Given the description of an element on the screen output the (x, y) to click on. 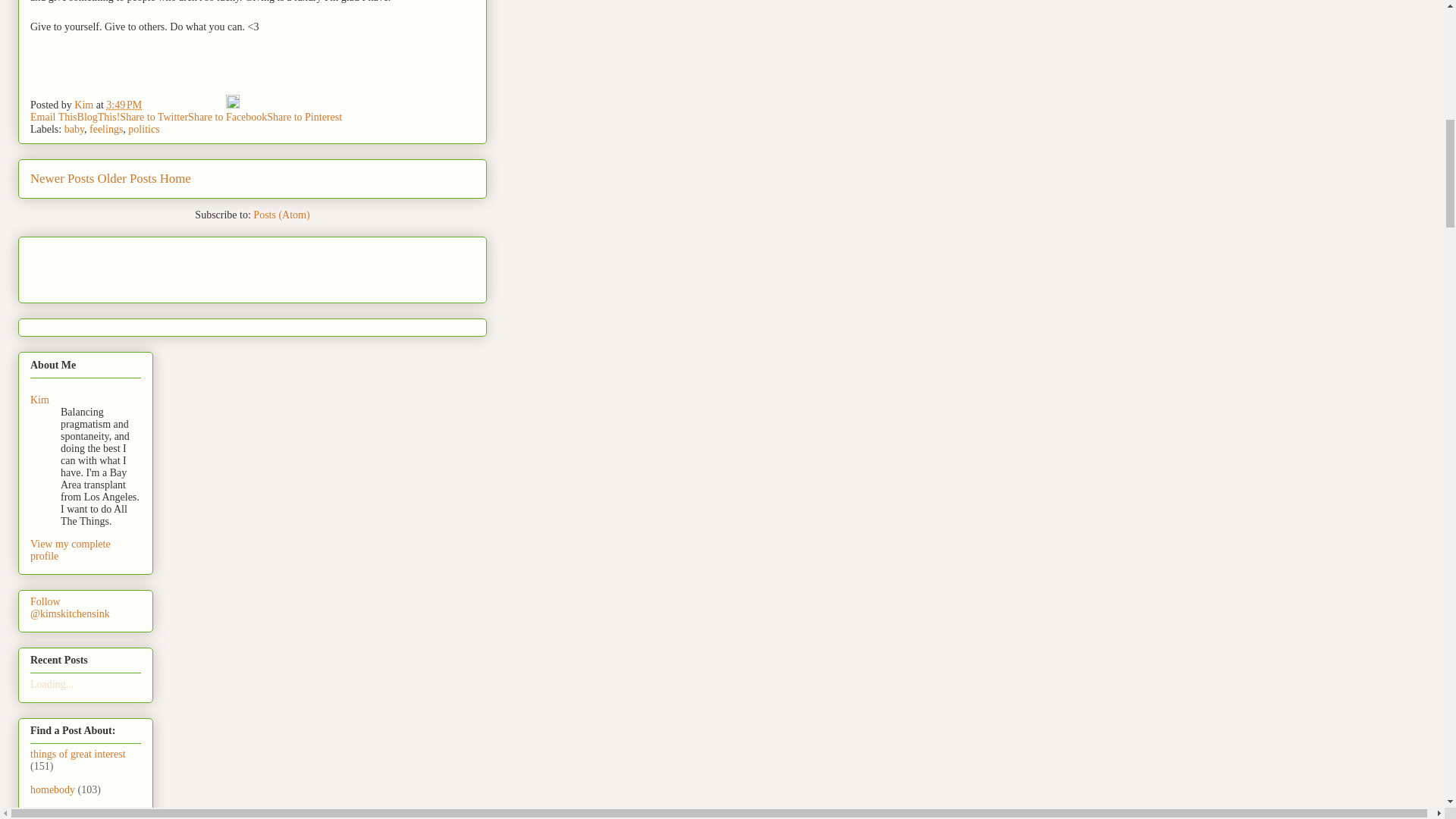
Share to Pinterest (304, 116)
BlogThis! (98, 116)
Edit Post (232, 104)
Older Posts (127, 178)
Share to Pinterest (304, 116)
Loading... (52, 684)
Kim (39, 399)
Home (175, 178)
Advertisement (119, 265)
Email This (53, 116)
permanent link (123, 104)
Older Posts (127, 178)
Share to Facebook (226, 116)
feelings (105, 129)
Share to Twitter (153, 116)
